Given the description of an element on the screen output the (x, y) to click on. 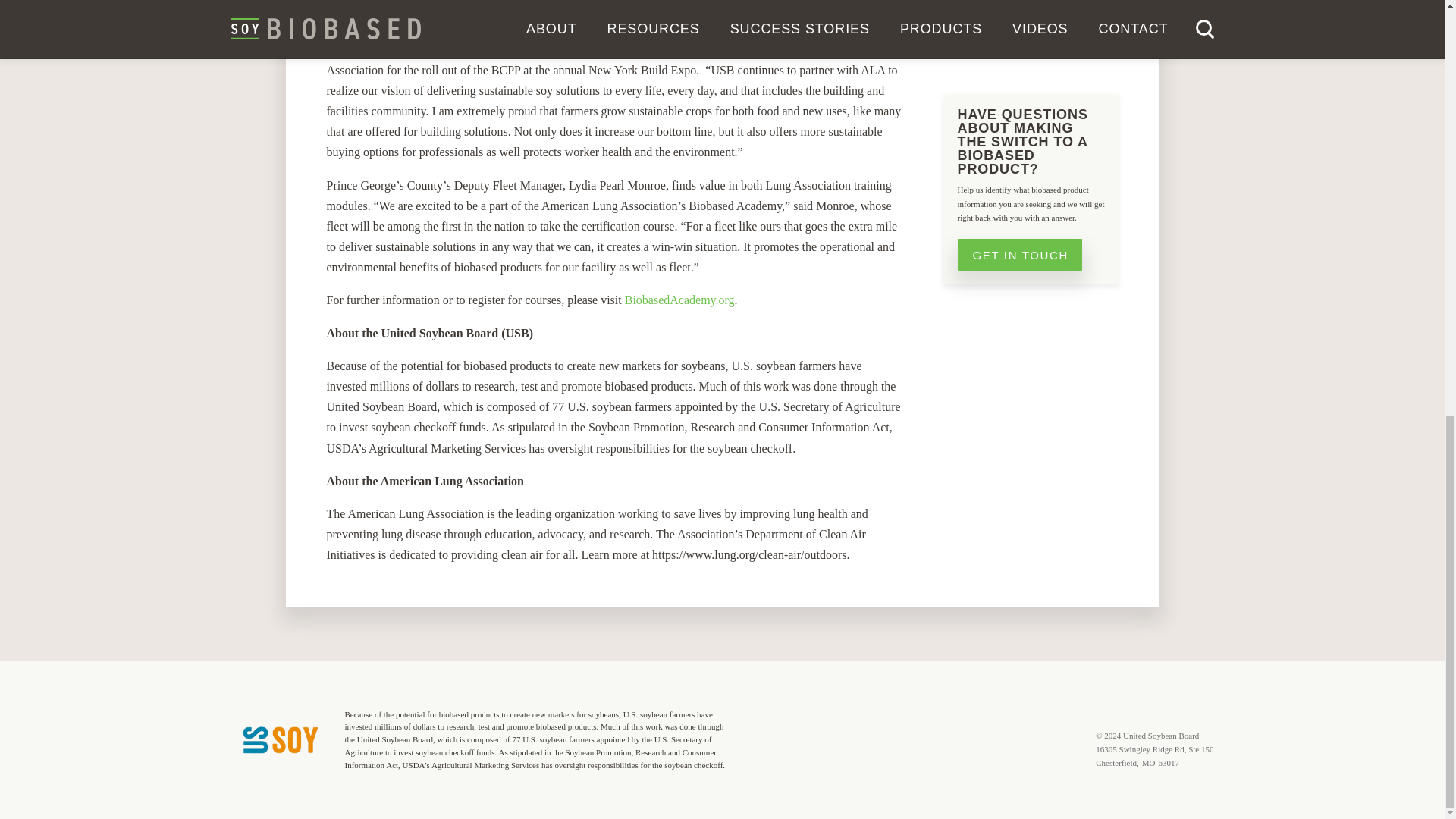
BiobasedAcademy.org (679, 299)
